Given the description of an element on the screen output the (x, y) to click on. 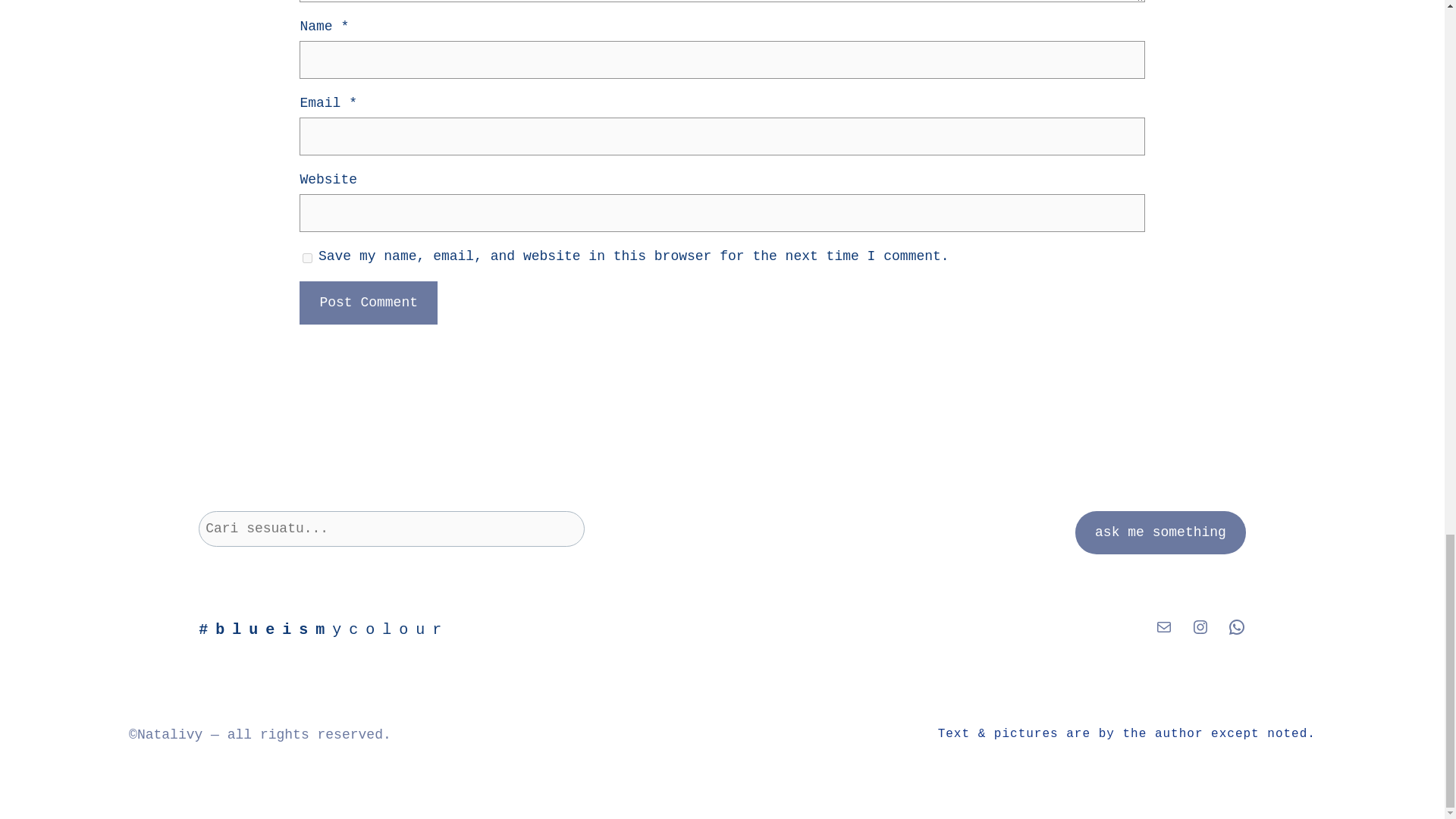
Post Comment (368, 302)
yes (307, 258)
